Given the description of an element on the screen output the (x, y) to click on. 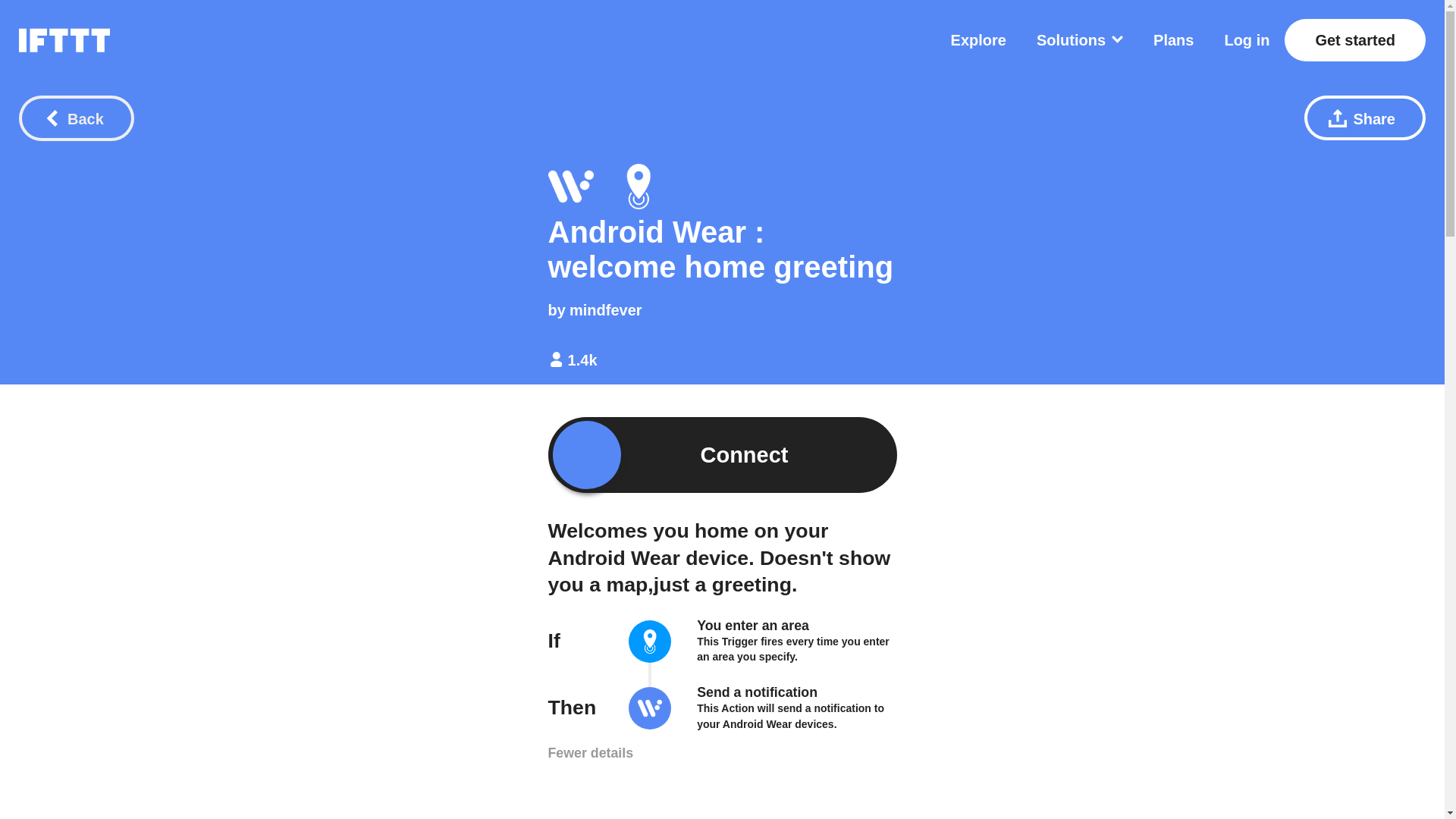
Get started (1354, 39)
Location You enter an area. (638, 186)
Explore (978, 39)
You enter an area (753, 625)
Share (1364, 117)
Home (64, 40)
Wear OS (649, 710)
Back (75, 117)
Log in (1246, 39)
Plans (1173, 39)
Send a notification (756, 692)
mindfever (605, 310)
Plans (1173, 39)
Location (649, 642)
